Given the description of an element on the screen output the (x, y) to click on. 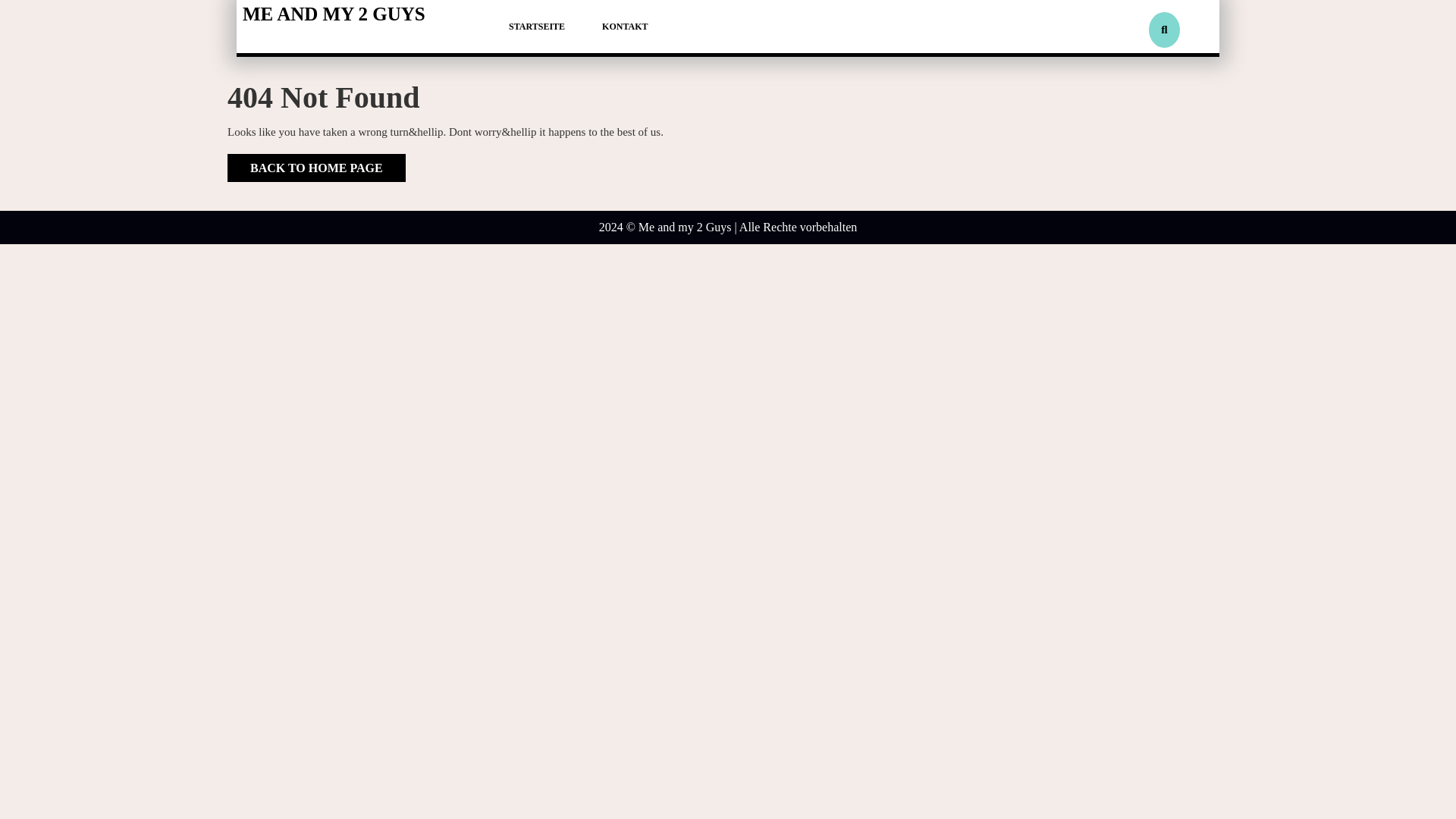
ME AND MY 2 GUYS (334, 14)
STARTSEITE (534, 26)
KONTAKT (622, 26)
BACK TO HOME PAGE (316, 166)
Search (1120, 77)
